Given the description of an element on the screen output the (x, y) to click on. 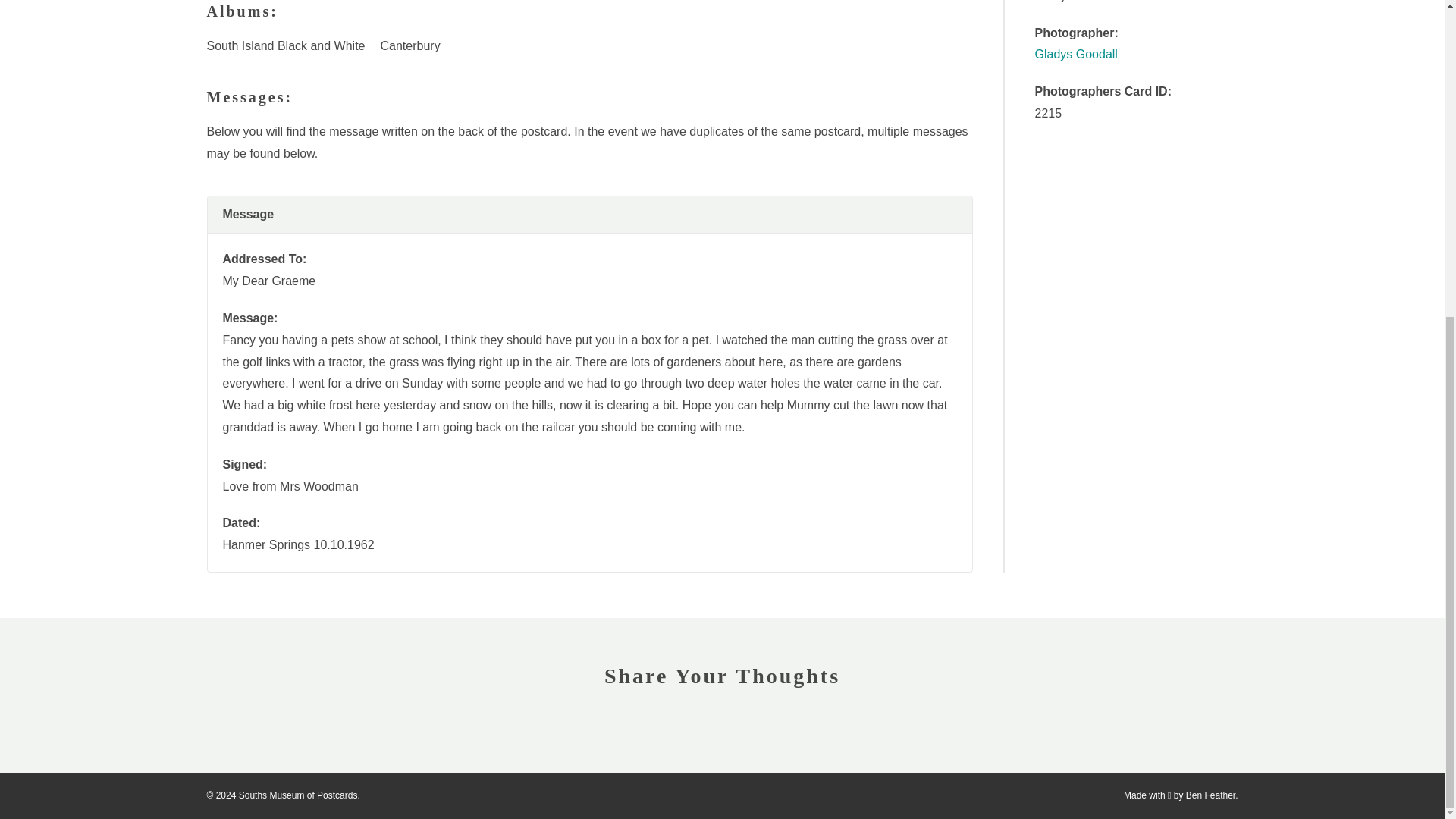
Canterbury (410, 46)
South Island Black and White (285, 46)
Gladys Goodall (1074, 53)
